Given the description of an element on the screen output the (x, y) to click on. 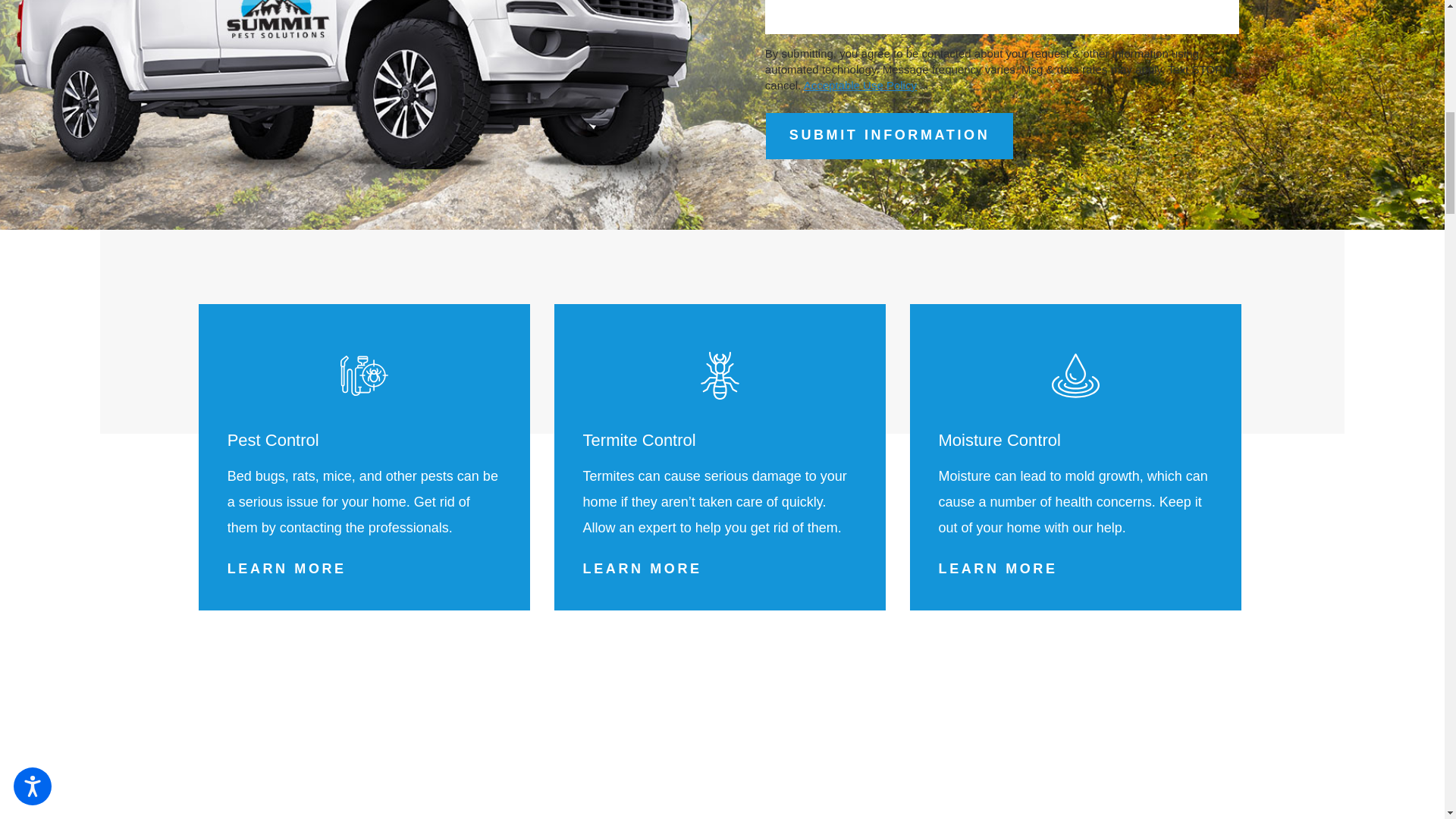
LEARN MORE (642, 569)
LEARN MORE (286, 569)
SUBMIT INFORMATION (889, 135)
Acceptable Use Policy (860, 84)
